Given the description of an element on the screen output the (x, y) to click on. 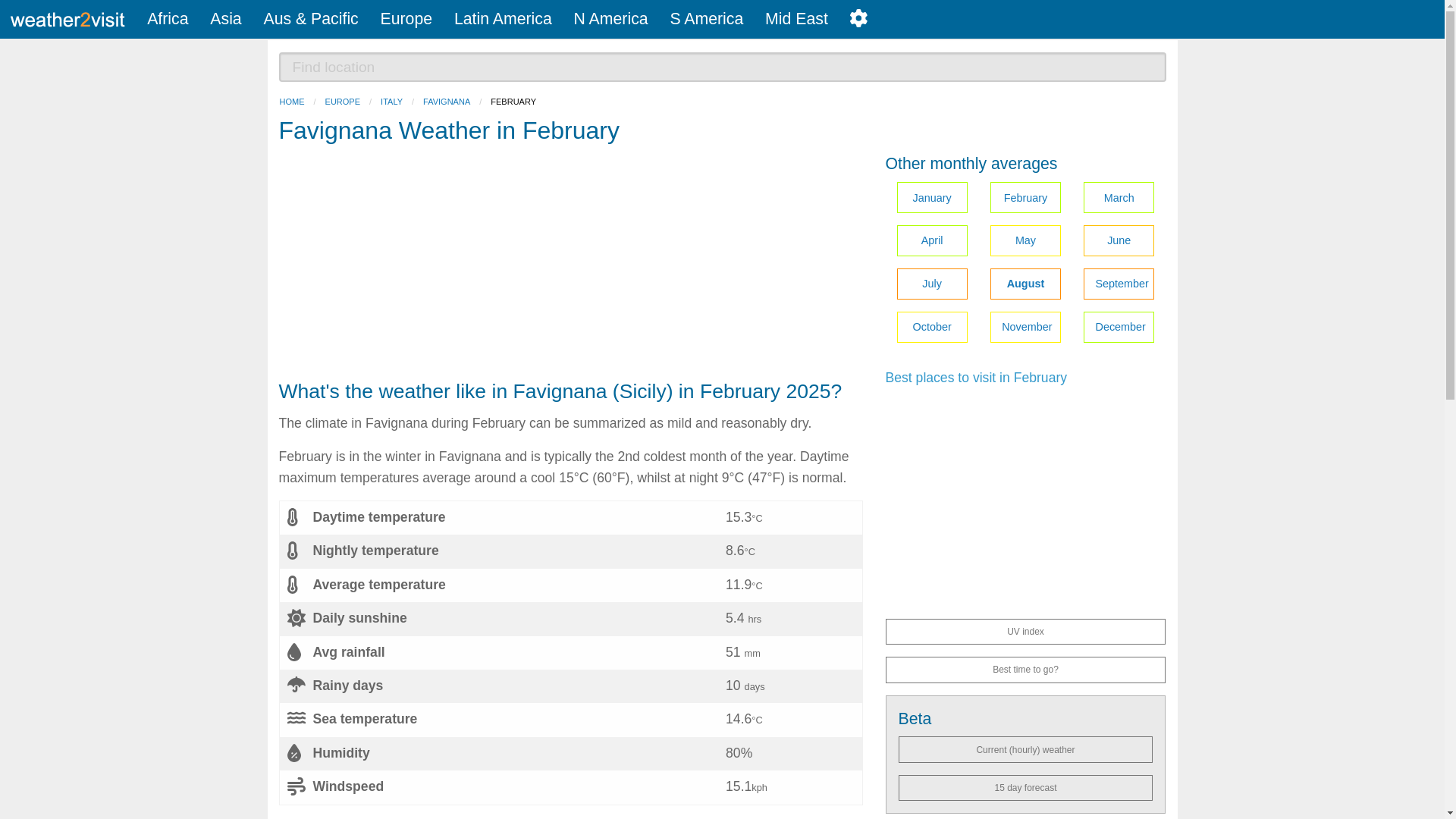
November (1025, 327)
April (931, 240)
Advertisement (571, 264)
FAVIGNANA (446, 101)
Latin America (502, 19)
UV index (1025, 631)
June (1118, 240)
January (931, 196)
February (1025, 196)
S America (706, 19)
